Given the description of an element on the screen output the (x, y) to click on. 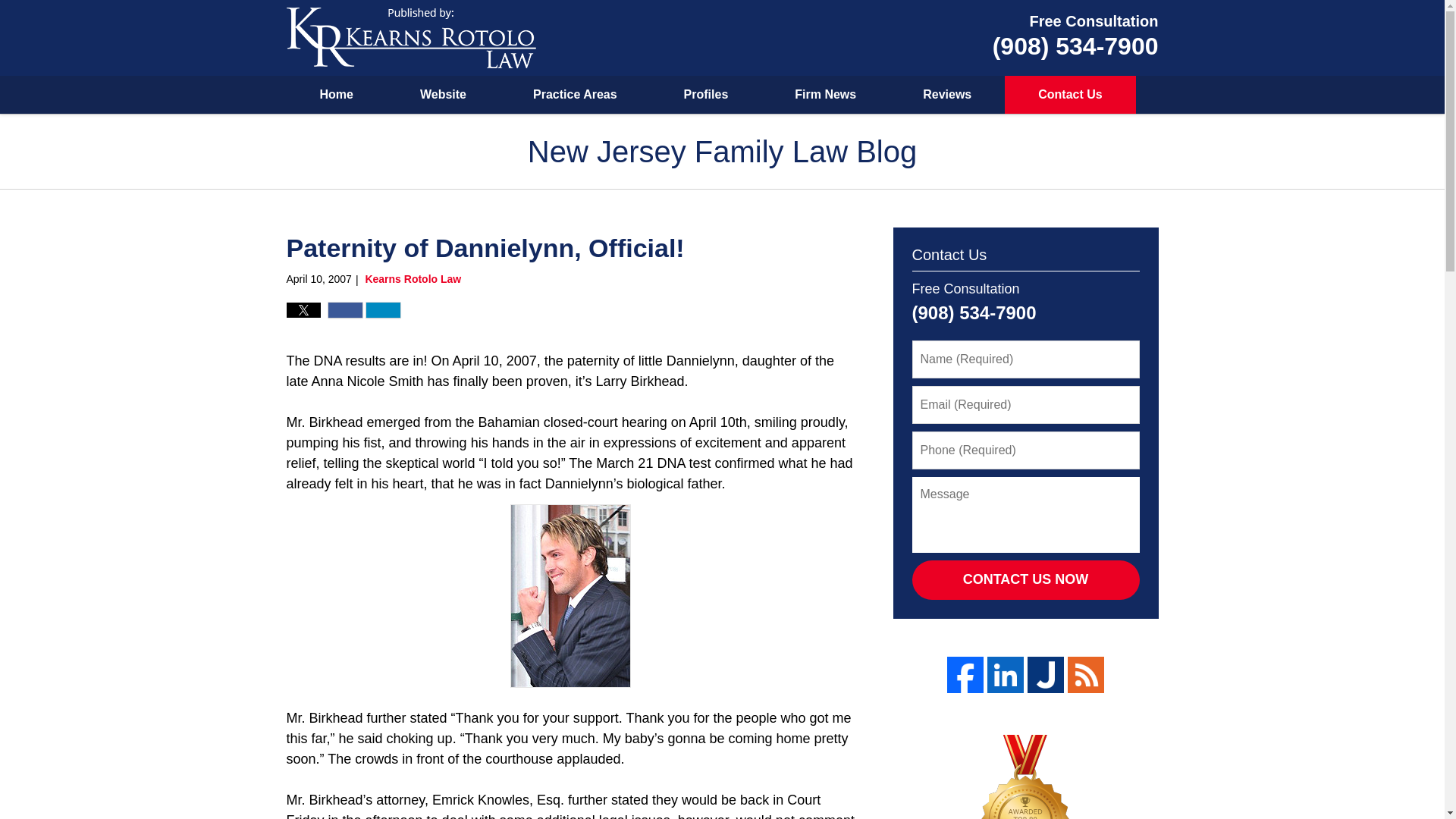
Feed (1085, 674)
New Jersey Family Law Blog (410, 37)
Kearns Rotolo Law (413, 278)
CONTACT US NOW (1024, 579)
LinkedIn (1005, 674)
Profiles (705, 94)
Please enter a valid phone number. (1024, 450)
Facebook (345, 309)
Firm News (825, 94)
Practice Areas (574, 94)
Click to share on Facebook (345, 309)
Facebook (965, 674)
Justia (1045, 674)
Website (443, 94)
Contact Us (1069, 94)
